Given the description of an element on the screen output the (x, y) to click on. 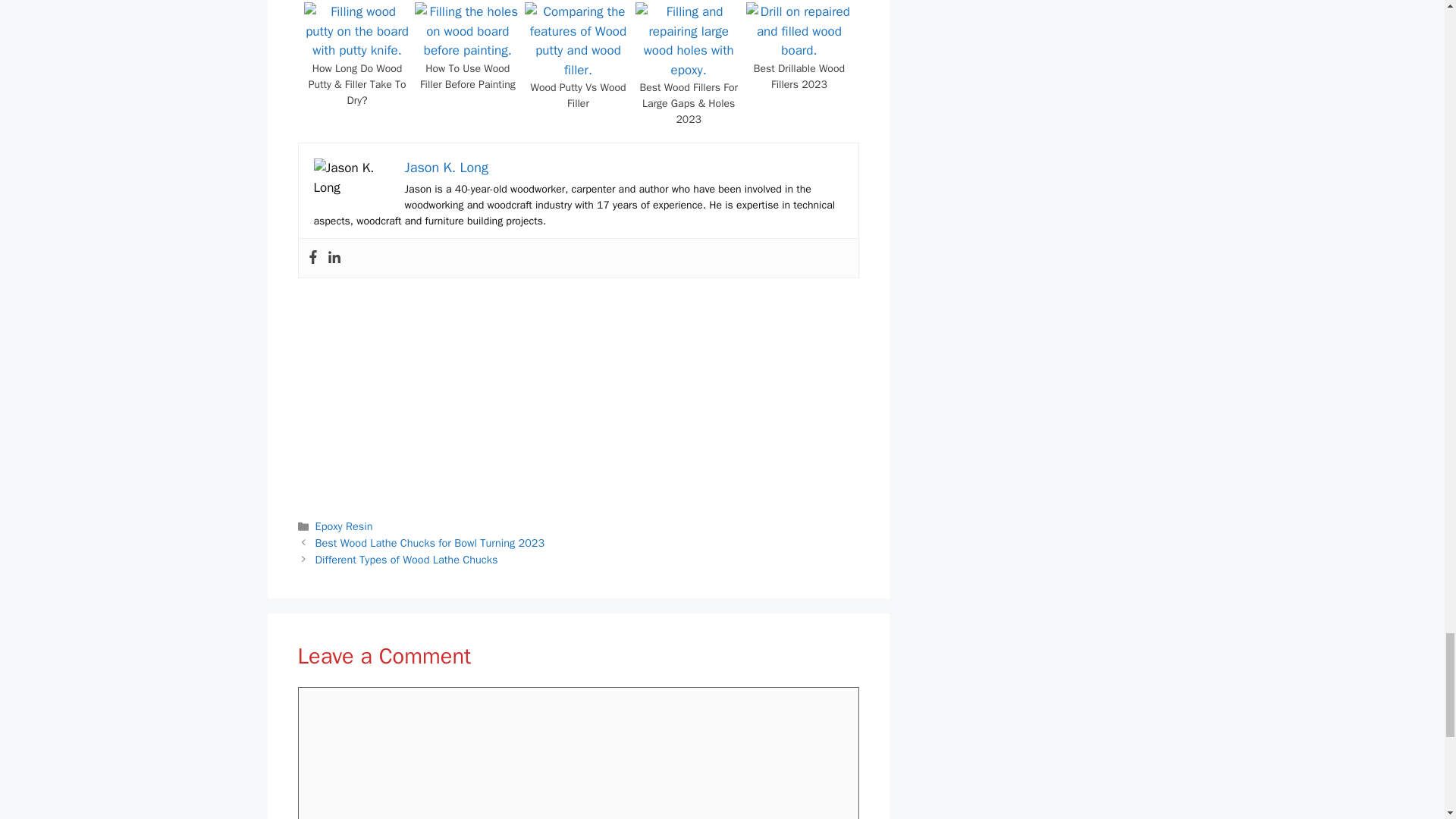
Best Drillable Wood Fillers 2023 (799, 76)
How To Use Wood Filler Before Painting (467, 50)
Wood Putty Vs Wood Filler (577, 95)
Wood Putty Vs Wood Filler (577, 95)
How To Use Wood Filler Before Painting (467, 76)
Wood Putty Vs Wood Filler (577, 69)
How To Use Wood Filler Before Painting (467, 76)
Jason K. Long (445, 167)
